Given the description of an element on the screen output the (x, y) to click on. 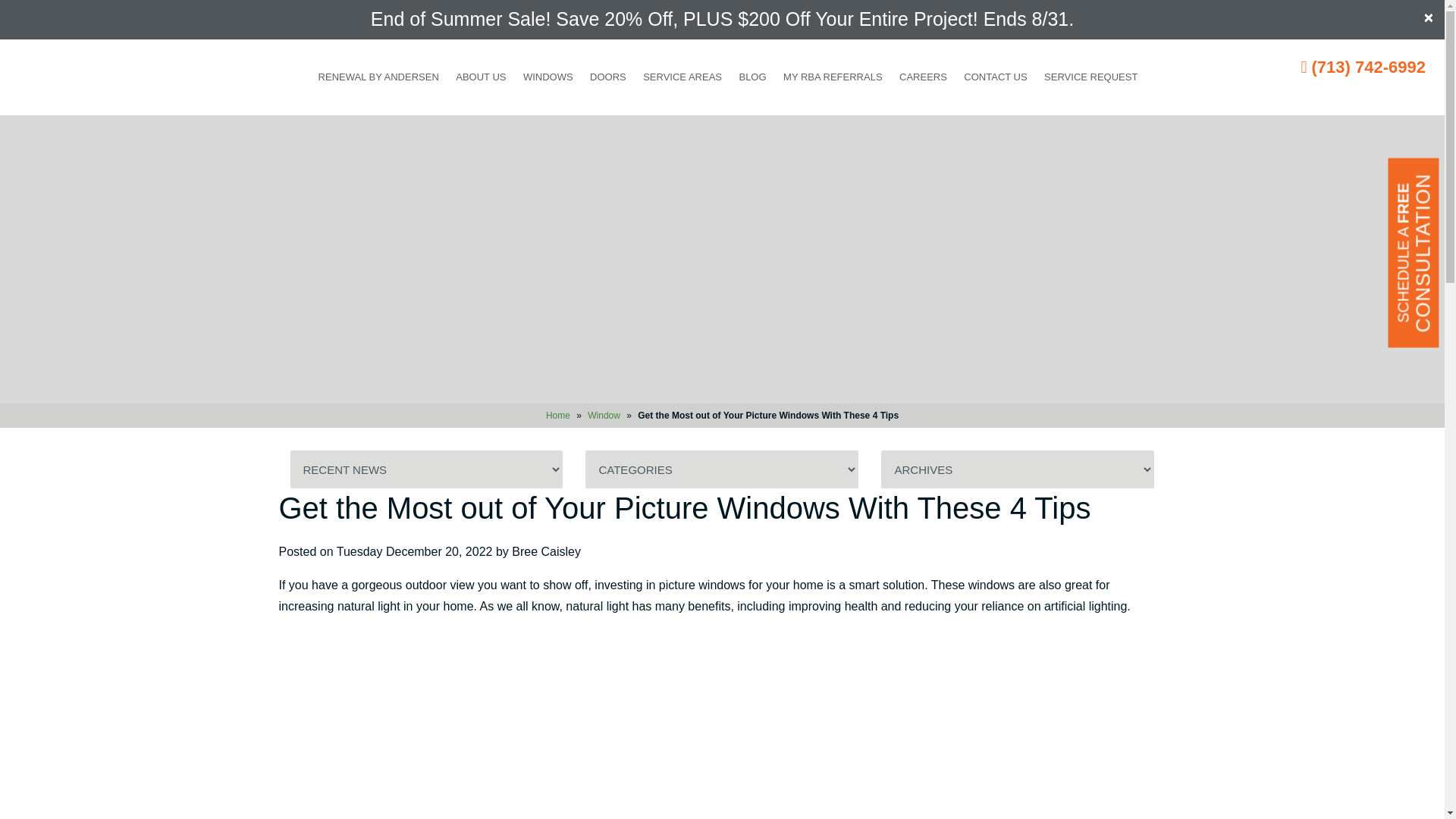
DOORS (608, 77)
SERVICE AREAS (682, 77)
ABOUT US (480, 77)
RENEWAL BY ANDERSEN (378, 77)
WINDOWS (547, 77)
